Given the description of an element on the screen output the (x, y) to click on. 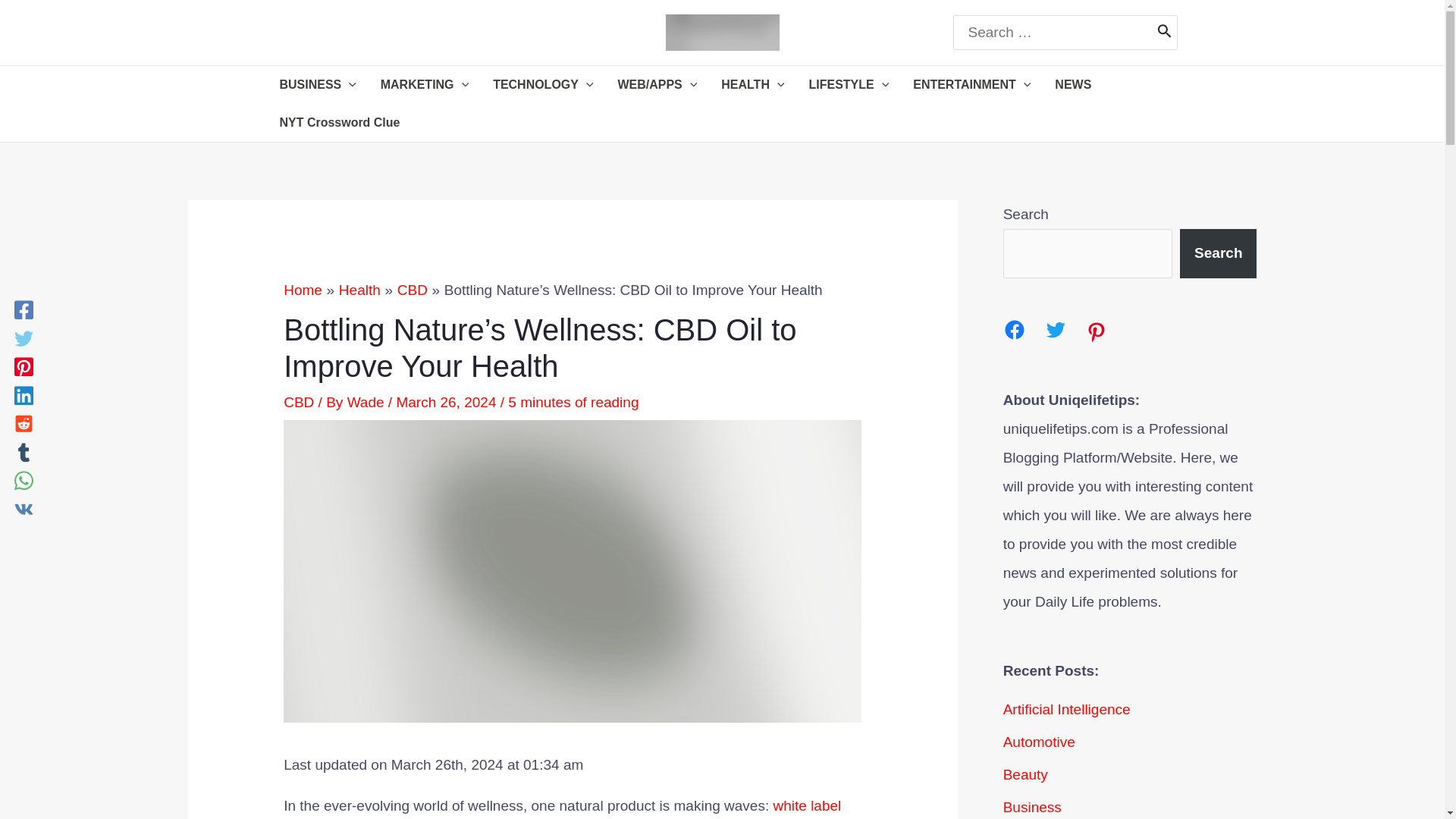
View all posts by Wade (367, 401)
ENTERTAINMENT (971, 85)
BUSINESS (317, 85)
HEALTH (752, 85)
LIFESTYLE (848, 85)
TECHNOLOGY (542, 85)
MARKETING (424, 85)
